Given the description of an element on the screen output the (x, y) to click on. 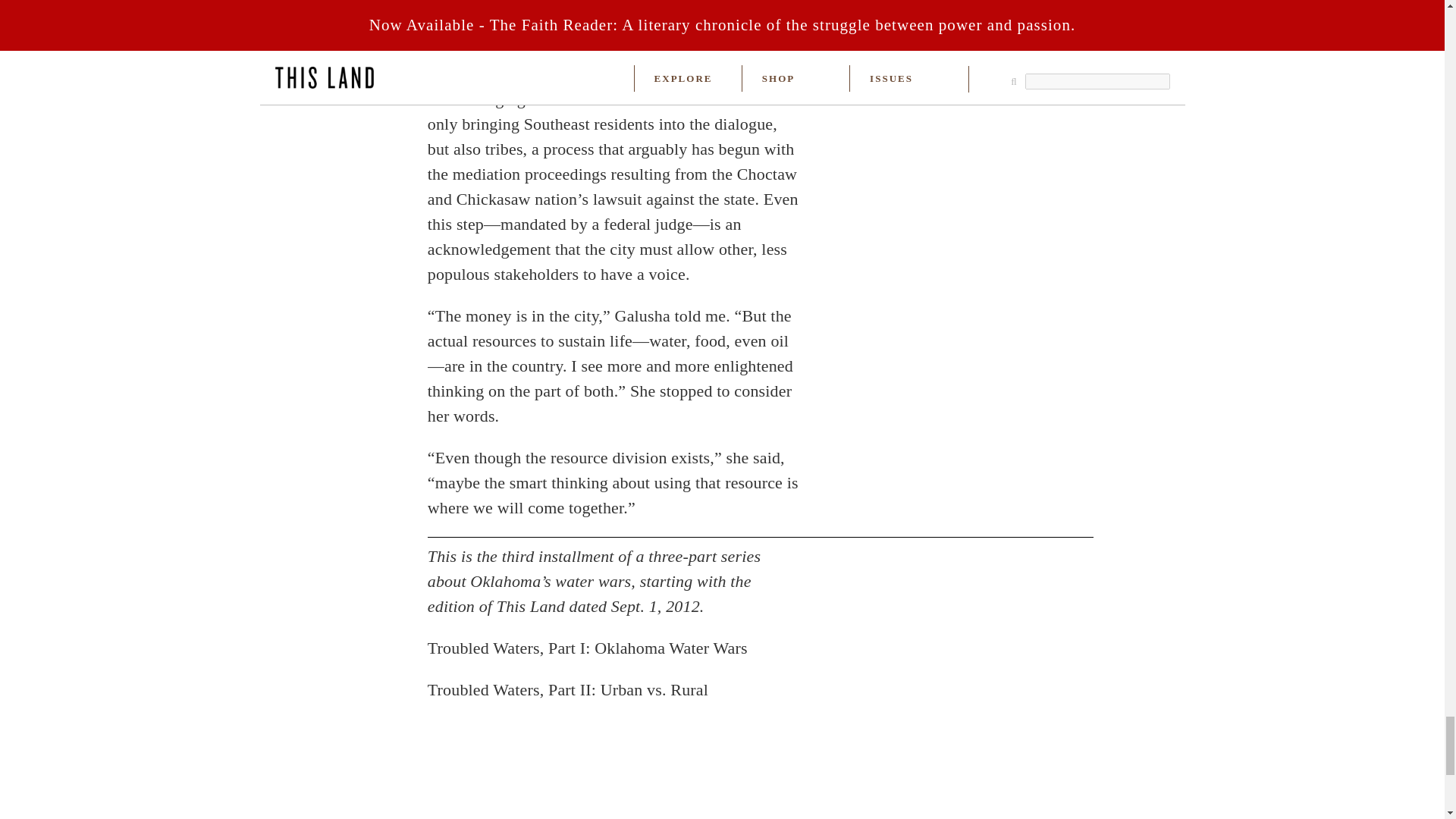
Troubled Waters, Part I: Oklahoma Water Wars (588, 647)
Troubled Waters, Part II: Urban vs. Rural (567, 689)
